Given the description of an element on the screen output the (x, y) to click on. 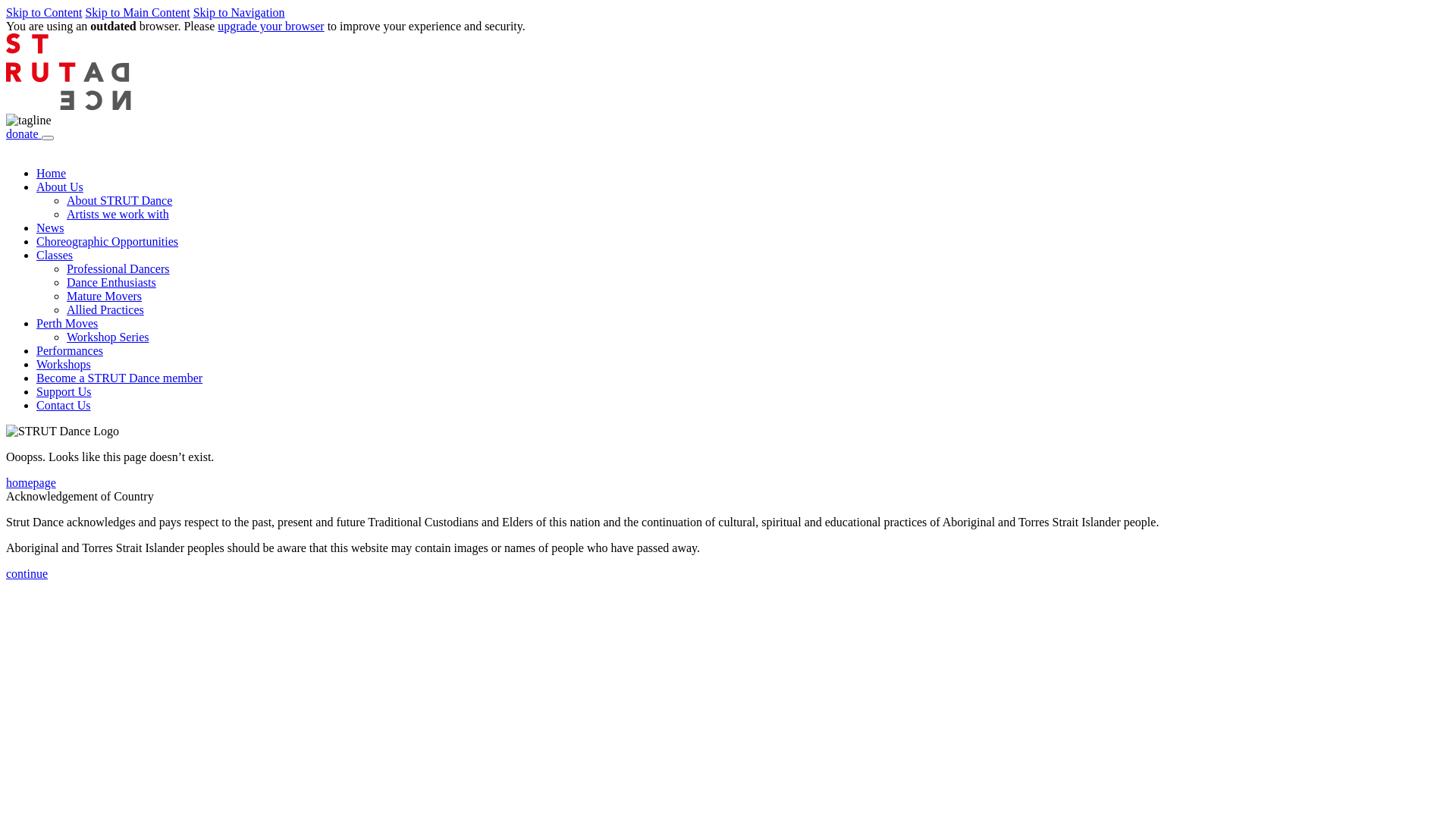
Artists we work with Element type: text (117, 213)
Support Us Element type: text (63, 391)
Home Element type: text (50, 172)
Skip to Main Content Element type: text (136, 12)
Mature Movers Element type: text (103, 295)
Workshops Element type: text (63, 363)
News Element type: text (49, 227)
Contact Us Element type: text (63, 404)
Choreographic Opportunities Element type: text (107, 241)
homepage Element type: text (31, 482)
Classes Element type: text (54, 254)
donate Element type: text (23, 133)
About Us Element type: text (59, 186)
Skip to Navigation Element type: text (239, 12)
About STRUT Dance Element type: text (119, 200)
continue Element type: text (26, 573)
Workshop Series Element type: text (107, 336)
Allied Practices Element type: text (105, 309)
upgrade your browser Element type: text (270, 25)
Skip to Content Element type: text (43, 12)
Become a STRUT Dance member Element type: text (119, 377)
Perth Moves Element type: text (66, 322)
Professional Dancers Element type: text (117, 268)
Performances Element type: text (69, 350)
Dance Enthusiasts Element type: text (111, 282)
